Given the description of an element on the screen output the (x, y) to click on. 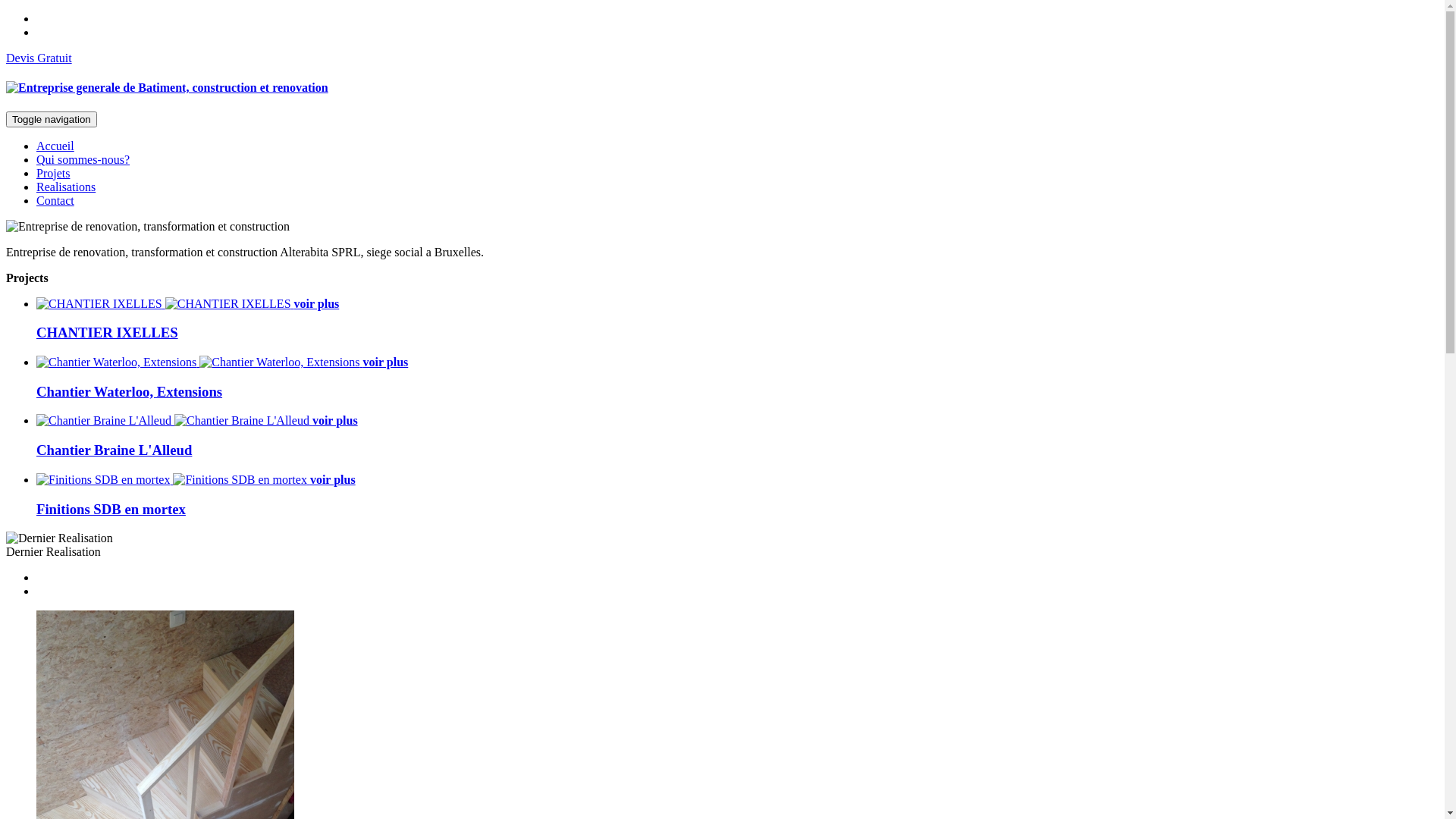
Toggle navigation Element type: text (51, 119)
voir plus Element type: text (187, 303)
Contact Element type: text (55, 200)
Projets Element type: text (52, 172)
Devis Gratuit Element type: text (39, 57)
voir plus Element type: text (221, 361)
Chantier Waterloo, Extensions Element type: text (129, 391)
voir plus Element type: text (196, 420)
Finitions SDB en mortex Element type: text (110, 509)
CHANTIER IXELLES Element type: text (107, 332)
Accueil Element type: text (55, 145)
Entreprise generale du batiment Element type: hover (89, 226)
Chantier Braine L'Alleud Element type: text (113, 450)
Realisations Element type: text (65, 186)
voir plus Element type: text (195, 479)
Qui sommes-nous? Element type: text (82, 159)
Entreprise generale de Batiment, construction et renovation Element type: hover (167, 87)
